Given the description of an element on the screen output the (x, y) to click on. 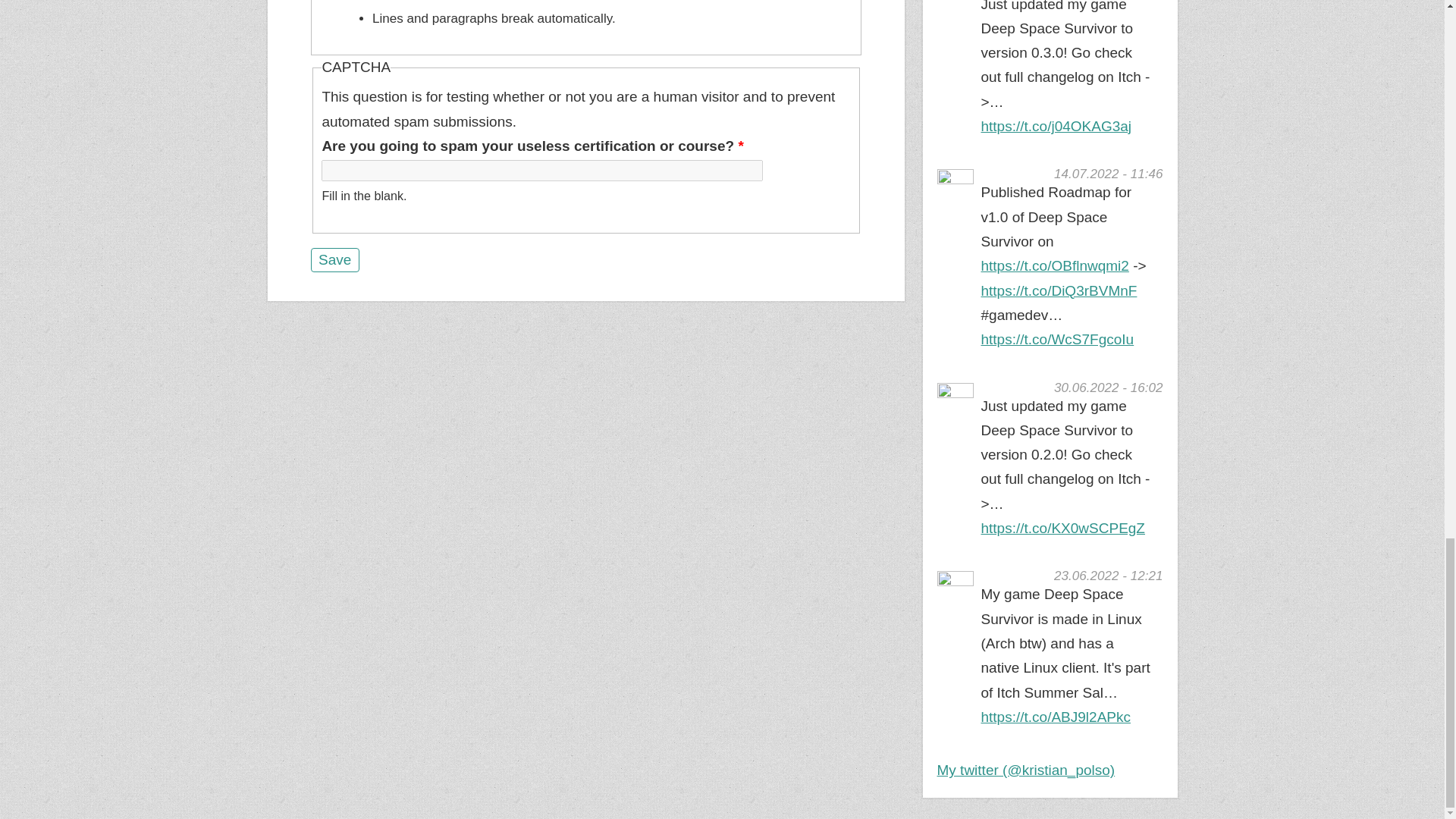
Save (335, 259)
Save (335, 259)
This field is required. (740, 145)
